Given the description of an element on the screen output the (x, y) to click on. 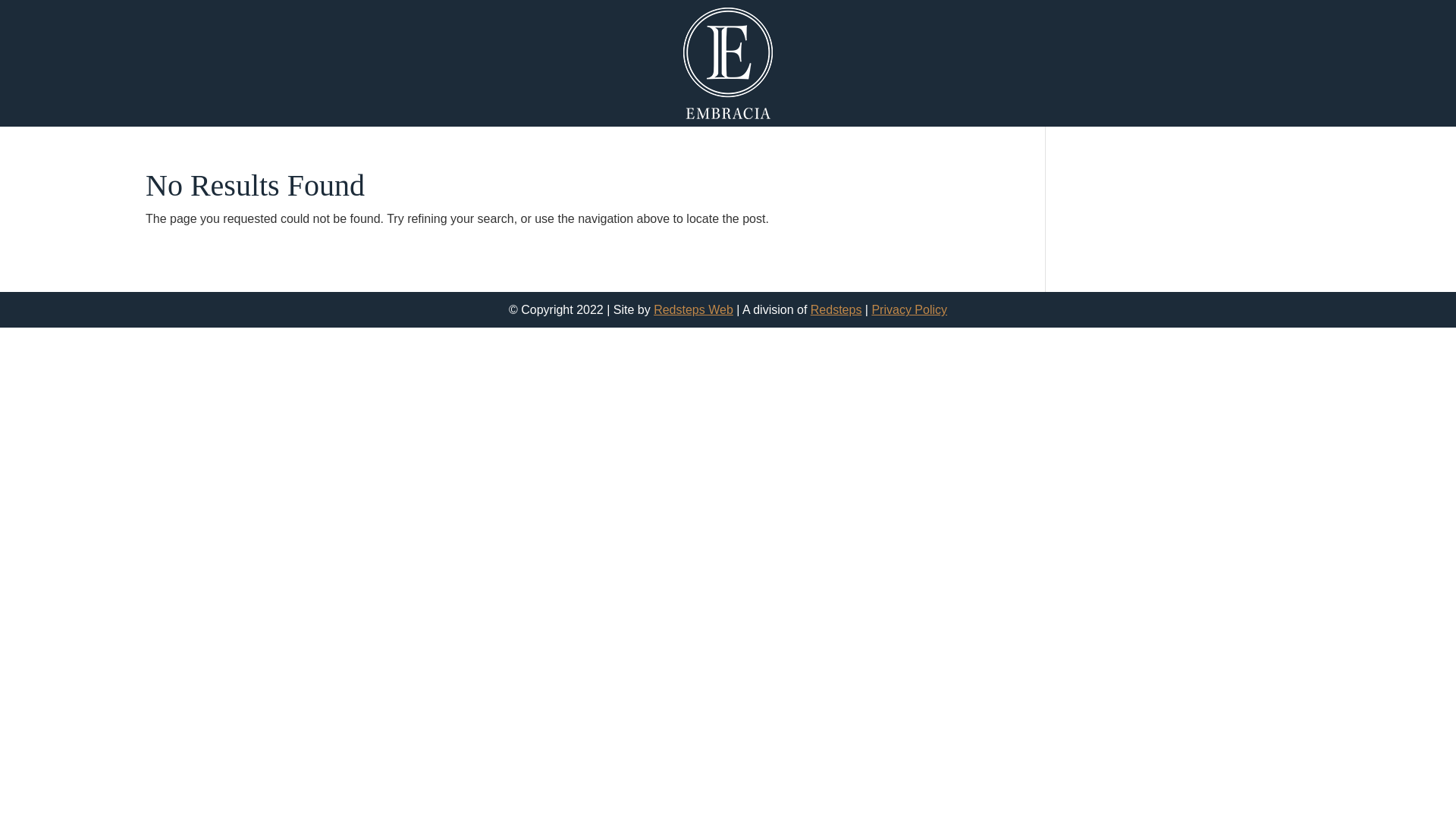
Privacy Policy Element type: text (909, 309)
Embracia Logo Element type: hover (727, 63)
Redsteps Web Element type: text (693, 309)
Redsteps Element type: text (836, 309)
